Given the description of an element on the screen output the (x, y) to click on. 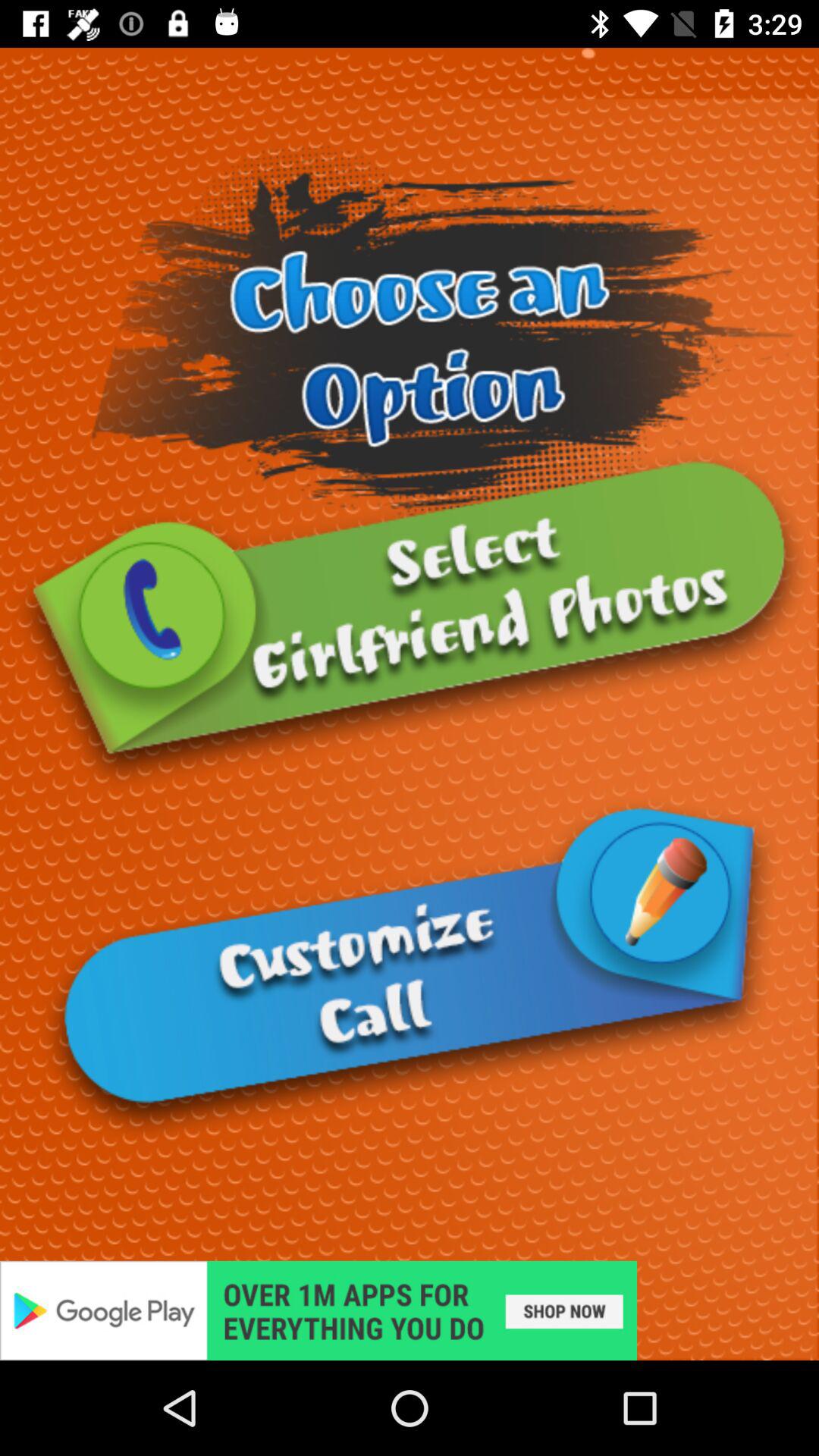
choose button (409, 621)
